Given the description of an element on the screen output the (x, y) to click on. 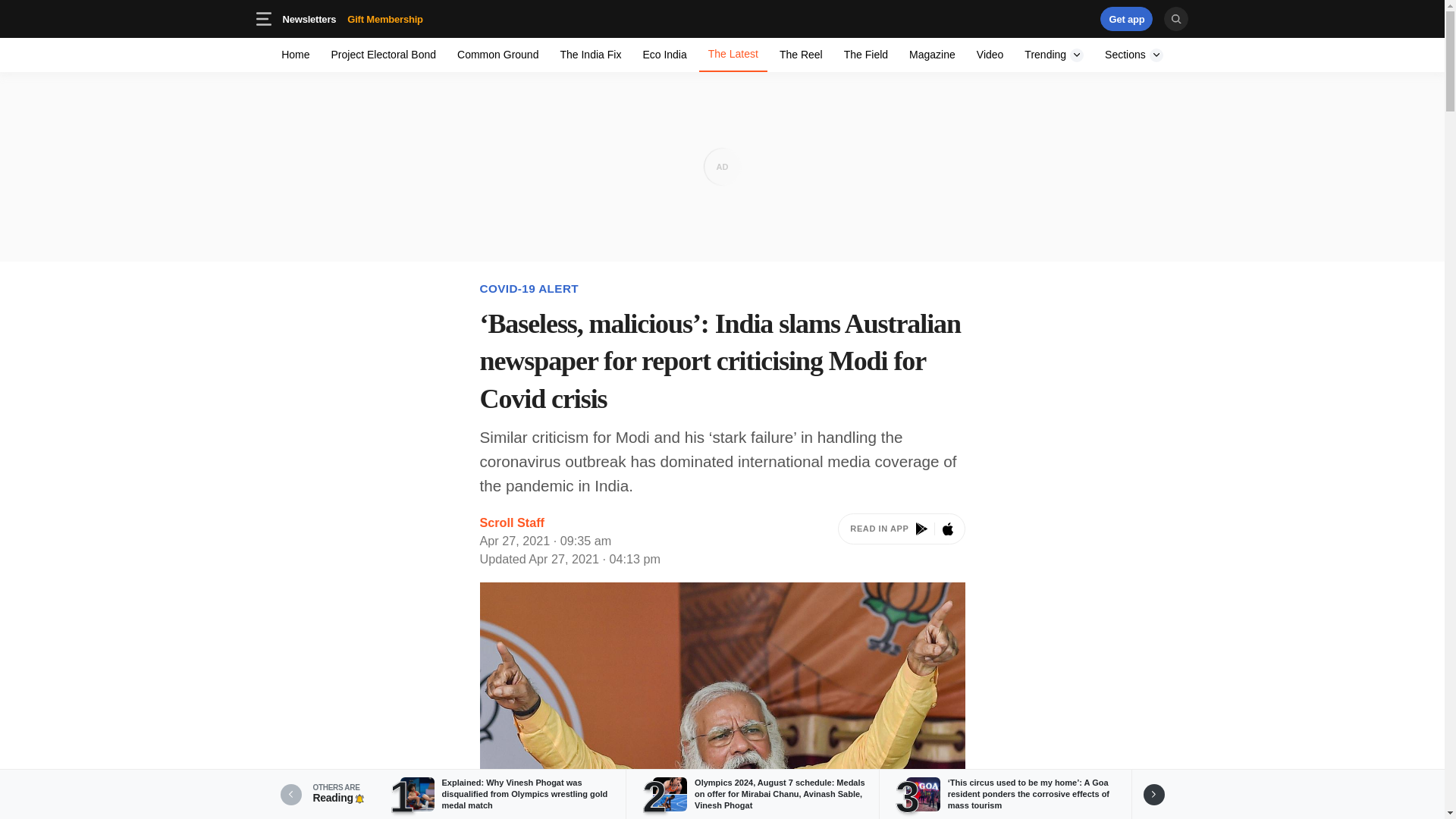
Gift Membership (409, 18)
The Reel (385, 18)
Get app (800, 54)
READ IN APP (1035, 18)
Get app (900, 540)
Eco India (1126, 18)
Newsletters (664, 54)
The Field (309, 18)
The India Fix (721, 18)
Home (865, 54)
Sections (590, 54)
Trending (295, 54)
